Given the description of an element on the screen output the (x, y) to click on. 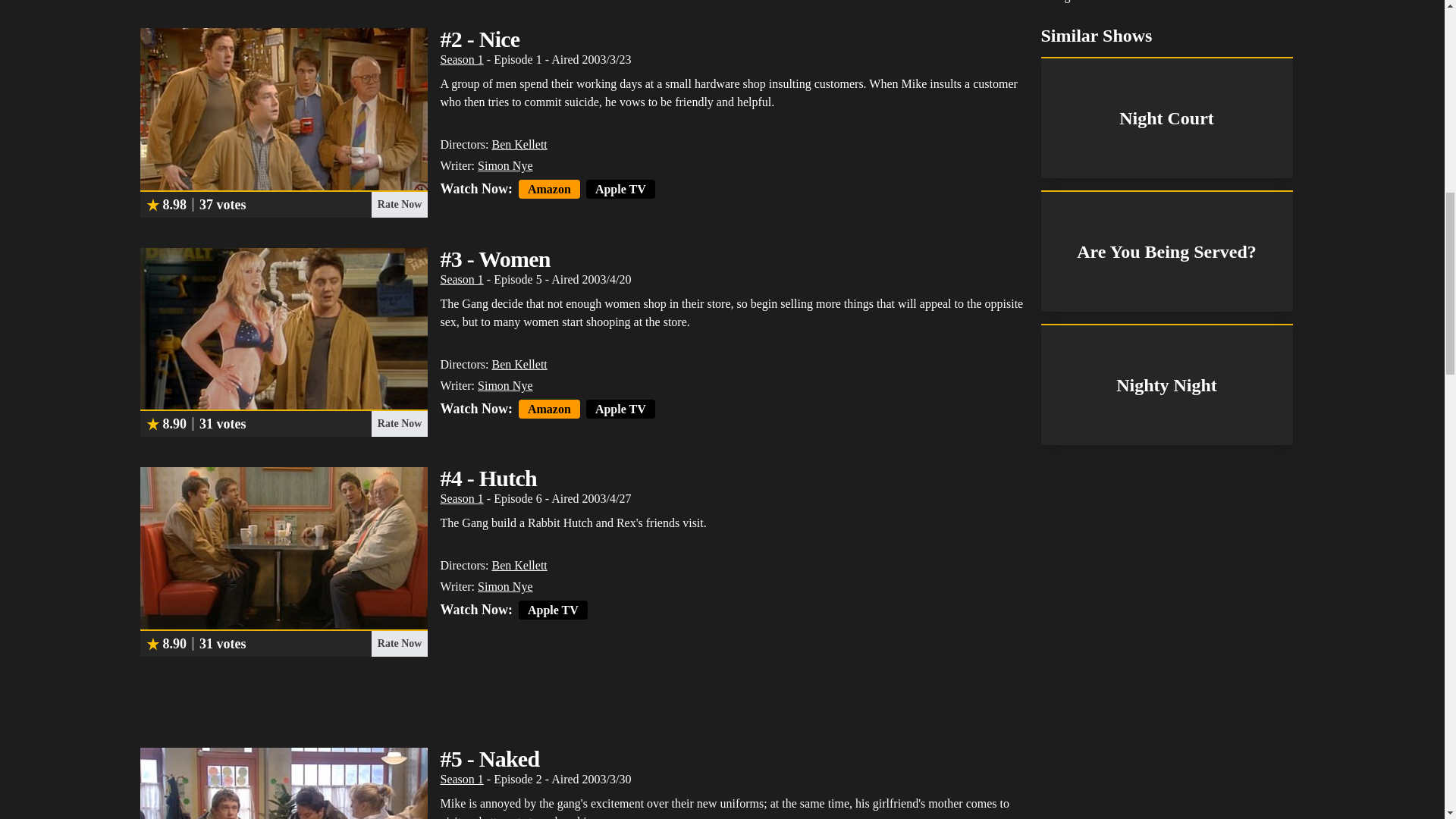
Season 1 (461, 779)
Season 1 (461, 498)
Apple TV (553, 609)
Ben Kellett (519, 564)
Ben Kellett (519, 364)
Simon Nye (504, 385)
Simon Nye (504, 585)
Season 1 (461, 59)
Season 1 (461, 278)
Amazon (548, 189)
Simon Nye (504, 164)
Rate Now (399, 204)
Amazon (548, 408)
Rate Now (399, 643)
Apple TV (620, 408)
